Given the description of an element on the screen output the (x, y) to click on. 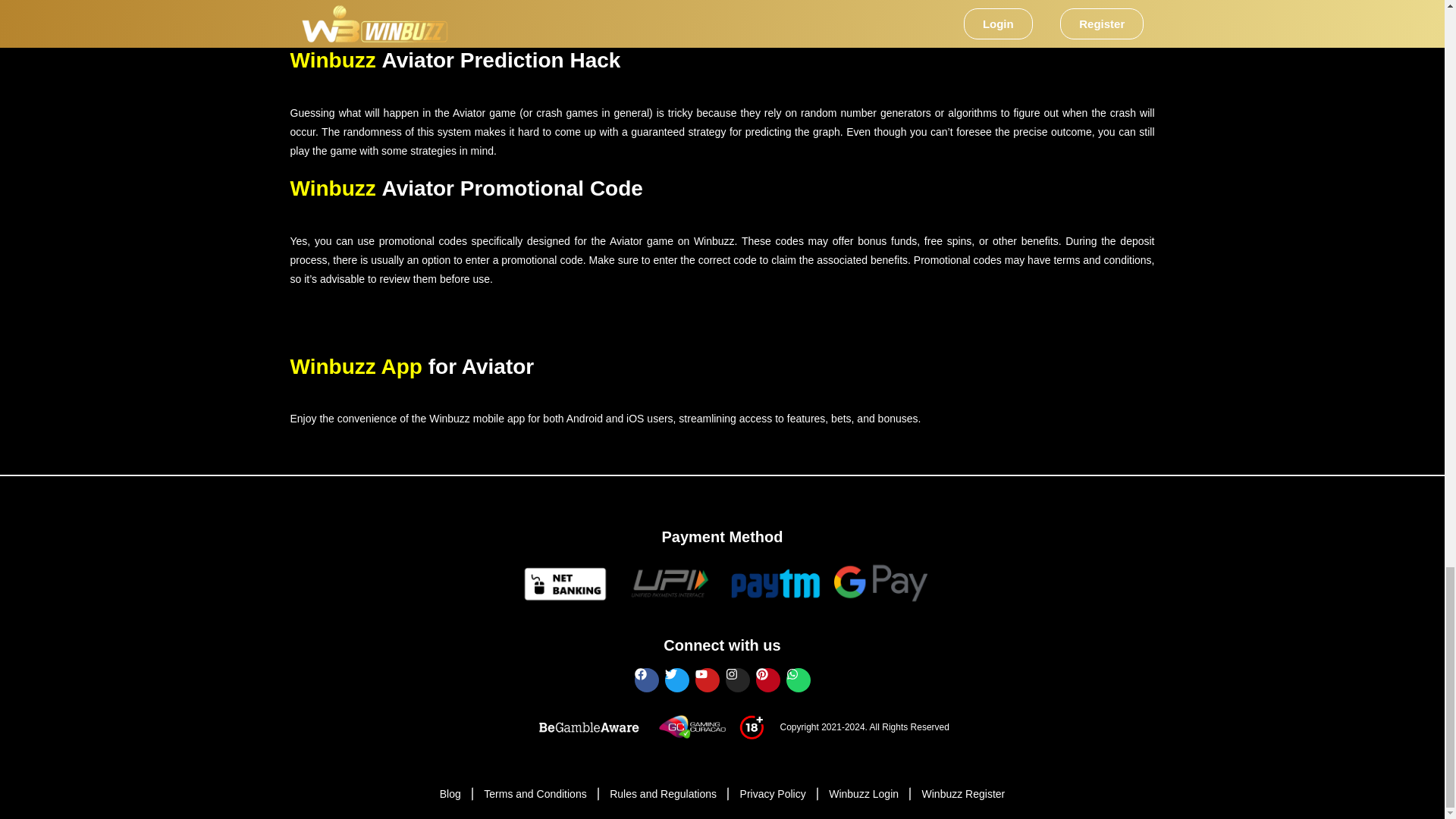
Winbuzz Login (855, 793)
Privacy Policy (764, 793)
Winbuzz Register (954, 793)
Rules and Regulations (654, 793)
Terms and Conditions (526, 793)
Blog (450, 793)
